Given the description of an element on the screen output the (x, y) to click on. 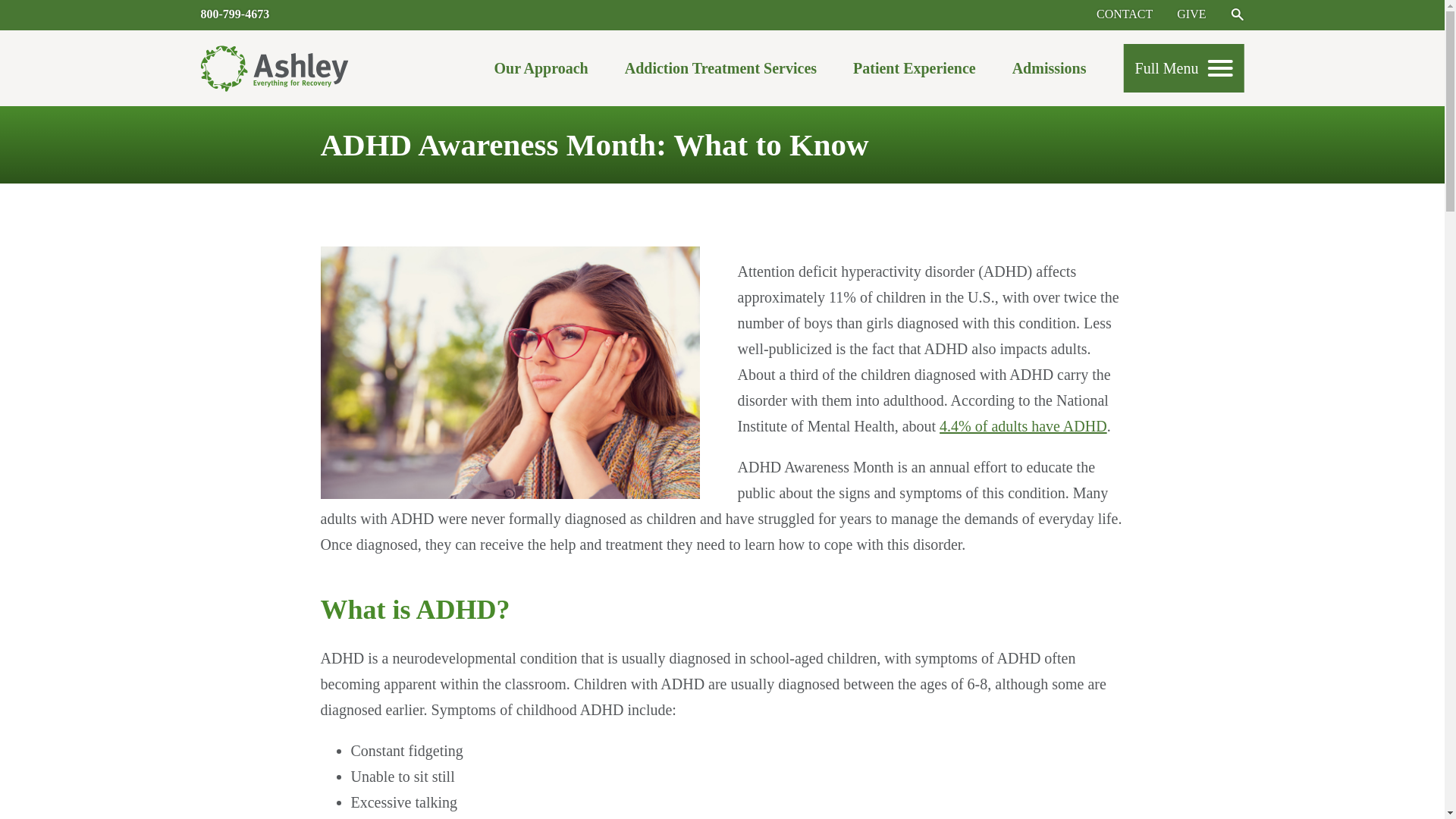
800-799-4673 (234, 14)
Admissions (1048, 71)
Patient Experience (914, 71)
GIVE (1190, 14)
Our Approach (540, 71)
Addiction Treatment Services (720, 71)
Search (1236, 14)
CONTACT (1124, 14)
